Given the description of an element on the screen output the (x, y) to click on. 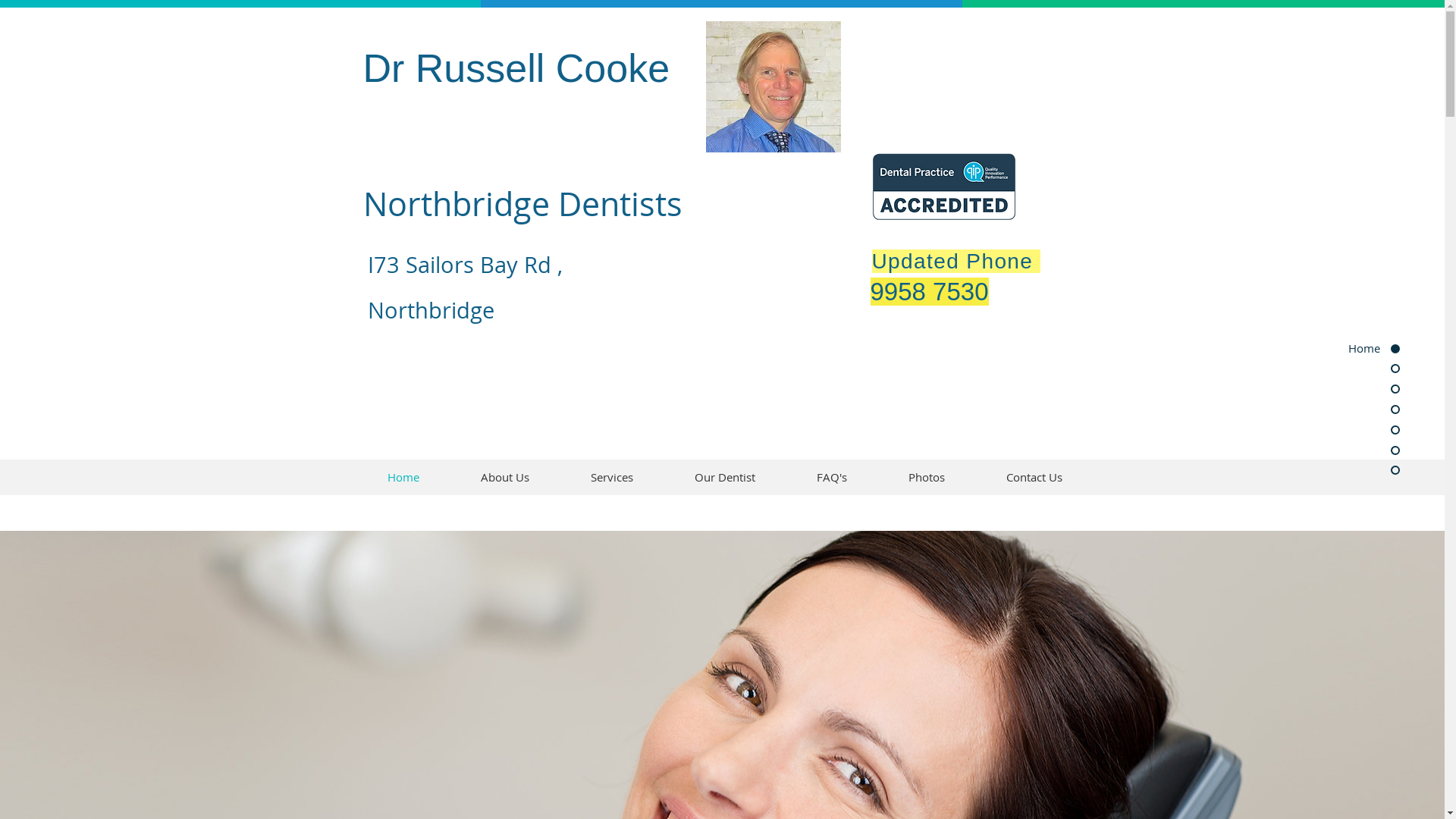
Photos Element type: text (926, 476)
Updated Phone  Element type: text (956, 261)
Home Element type: text (1342, 348)
Dr Russell Cooke  Element type: text (521, 68)
Home Element type: text (402, 476)
Our Dentist Element type: text (725, 476)
About Us Element type: text (505, 476)
Contact Us Element type: text (1033, 476)
FAQ's Element type: text (831, 476)
Services Element type: text (611, 476)
